Given the description of an element on the screen output the (x, y) to click on. 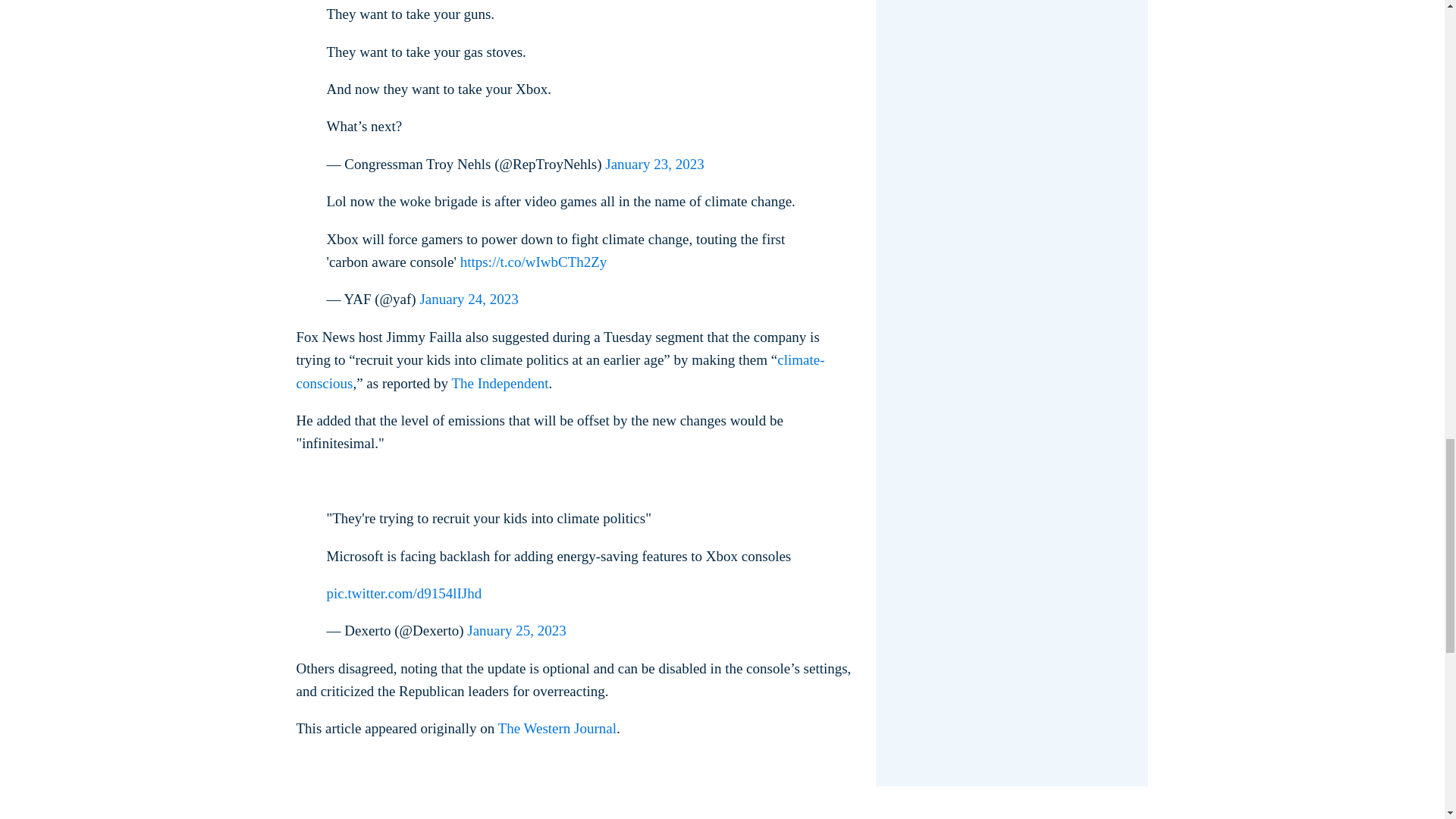
January 24, 2023 (468, 299)
climate-conscious (559, 371)
January 25, 2023 (516, 630)
The Western Journal (556, 728)
Advertisement (715, 812)
The Independent (499, 383)
January 23, 2023 (654, 163)
